Given the description of an element on the screen output the (x, y) to click on. 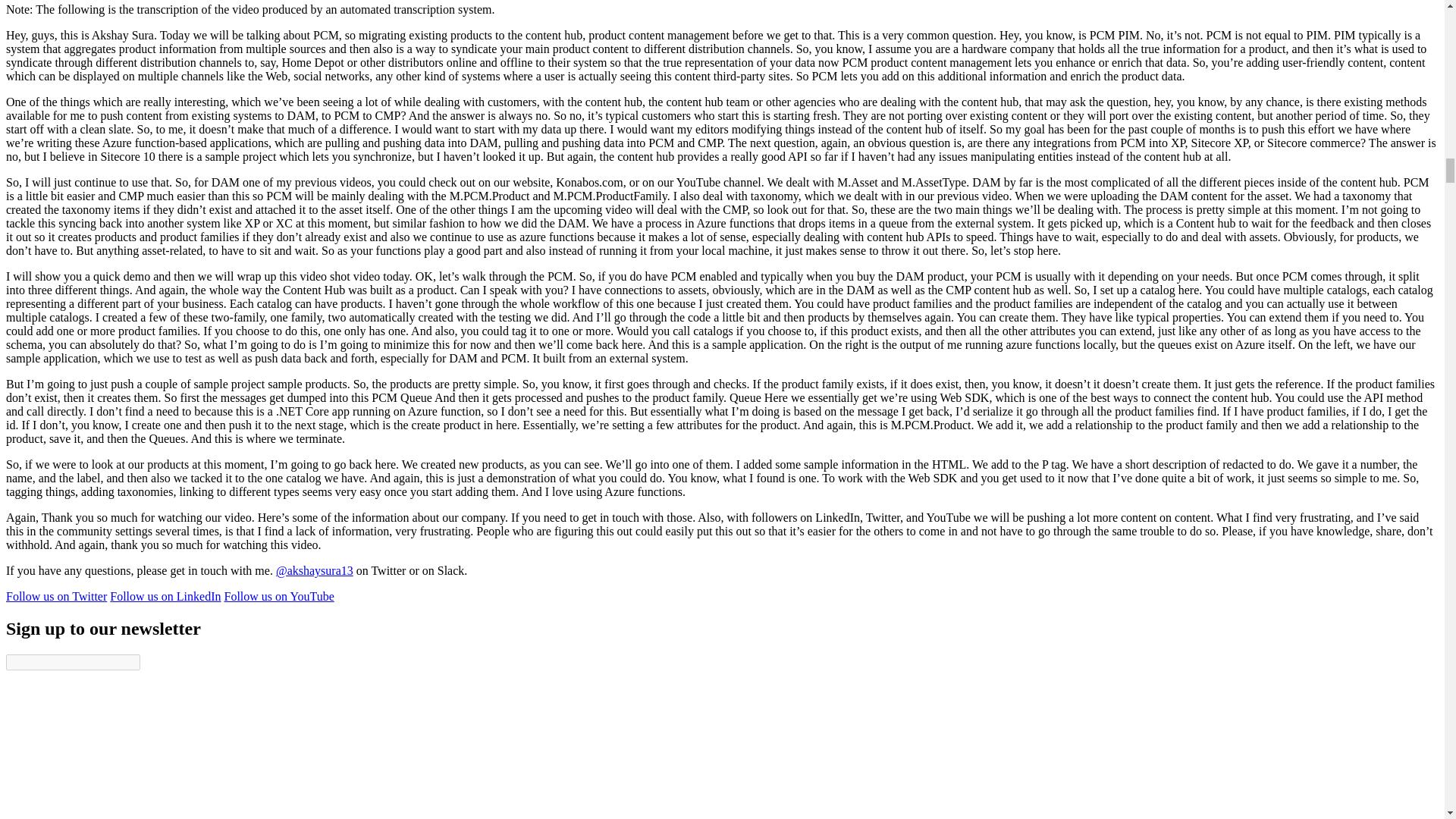
Follow us on LinkedIn (165, 595)
Follow us on YouTube (278, 595)
Follow us on Twitter (55, 595)
